Given the description of an element on the screen output the (x, y) to click on. 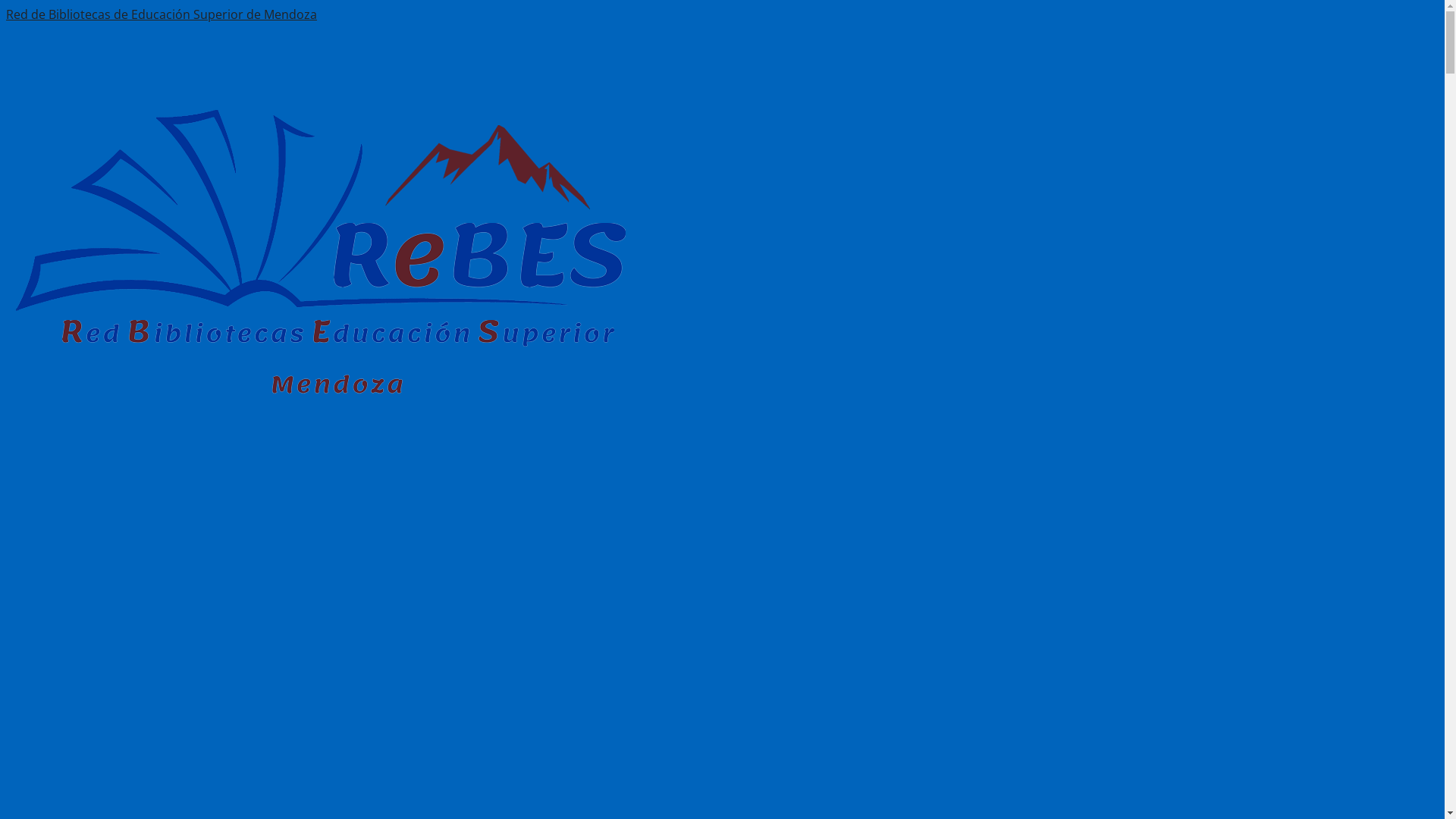
Skip to content Element type: text (49, 14)
